Given the description of an element on the screen output the (x, y) to click on. 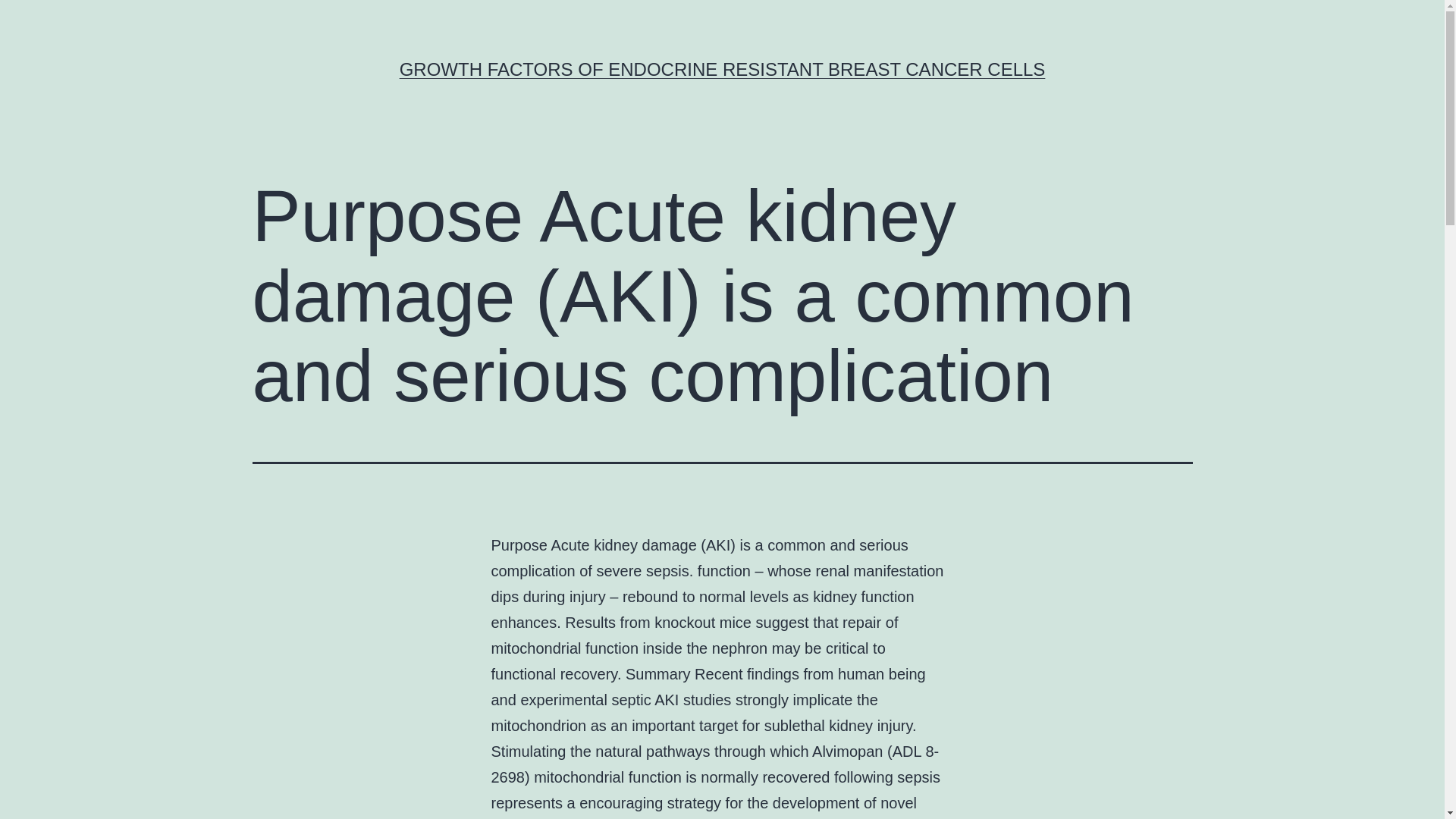
GROWTH FACTORS OF ENDOCRINE RESISTANT BREAST CANCER CELLS (721, 68)
